Given the description of an element on the screen output the (x, y) to click on. 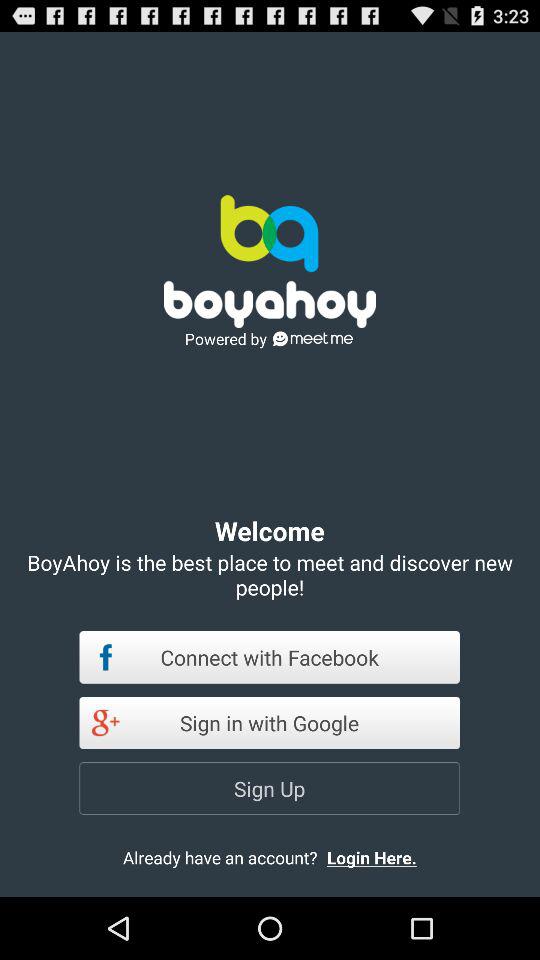
tap the item above sign up item (269, 722)
